Given the description of an element on the screen output the (x, y) to click on. 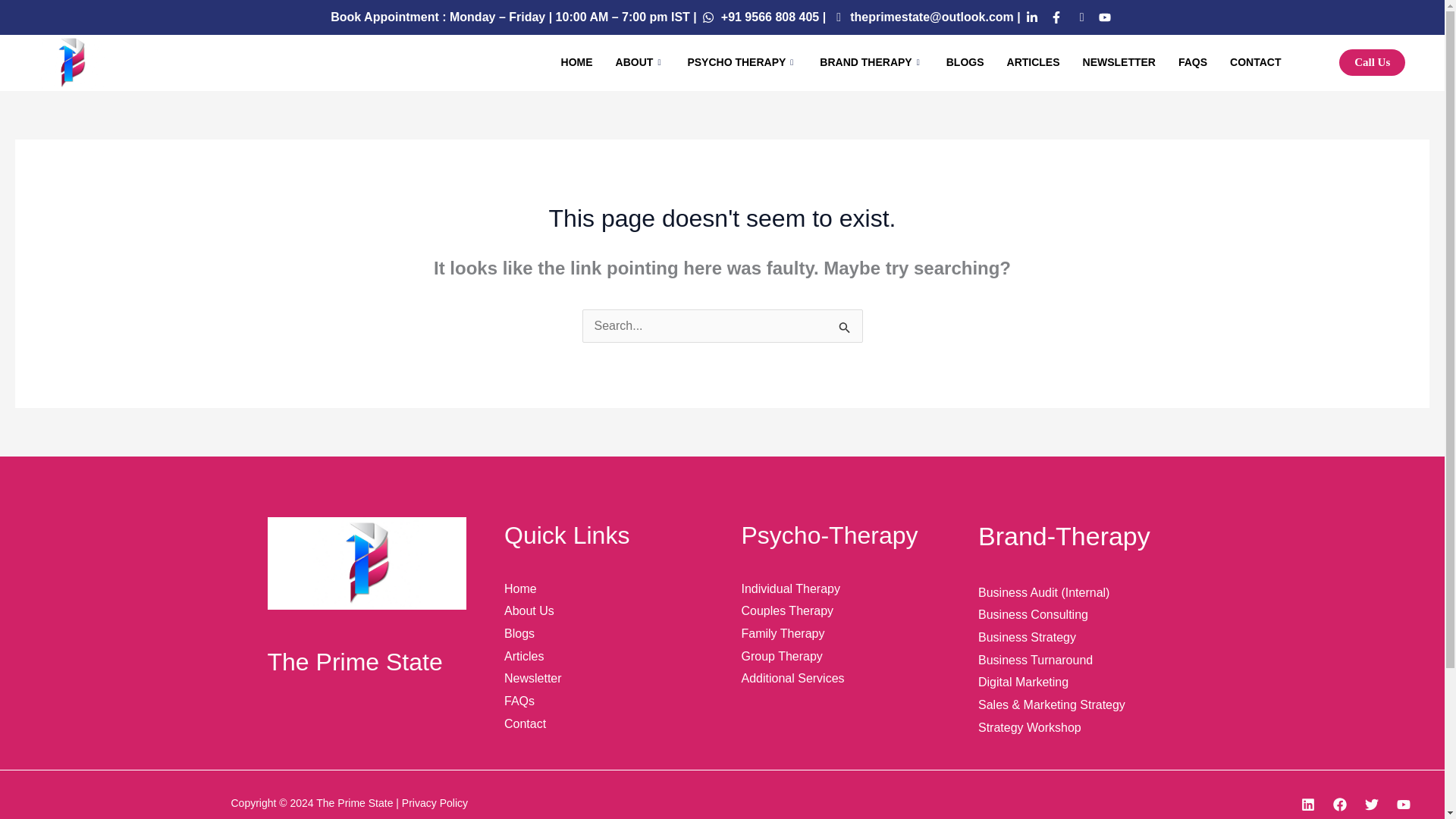
HOME (577, 62)
ABOUT (640, 62)
PSYCHO THERAPY (741, 62)
BRAND THERAPY (871, 62)
